Given the description of an element on the screen output the (x, y) to click on. 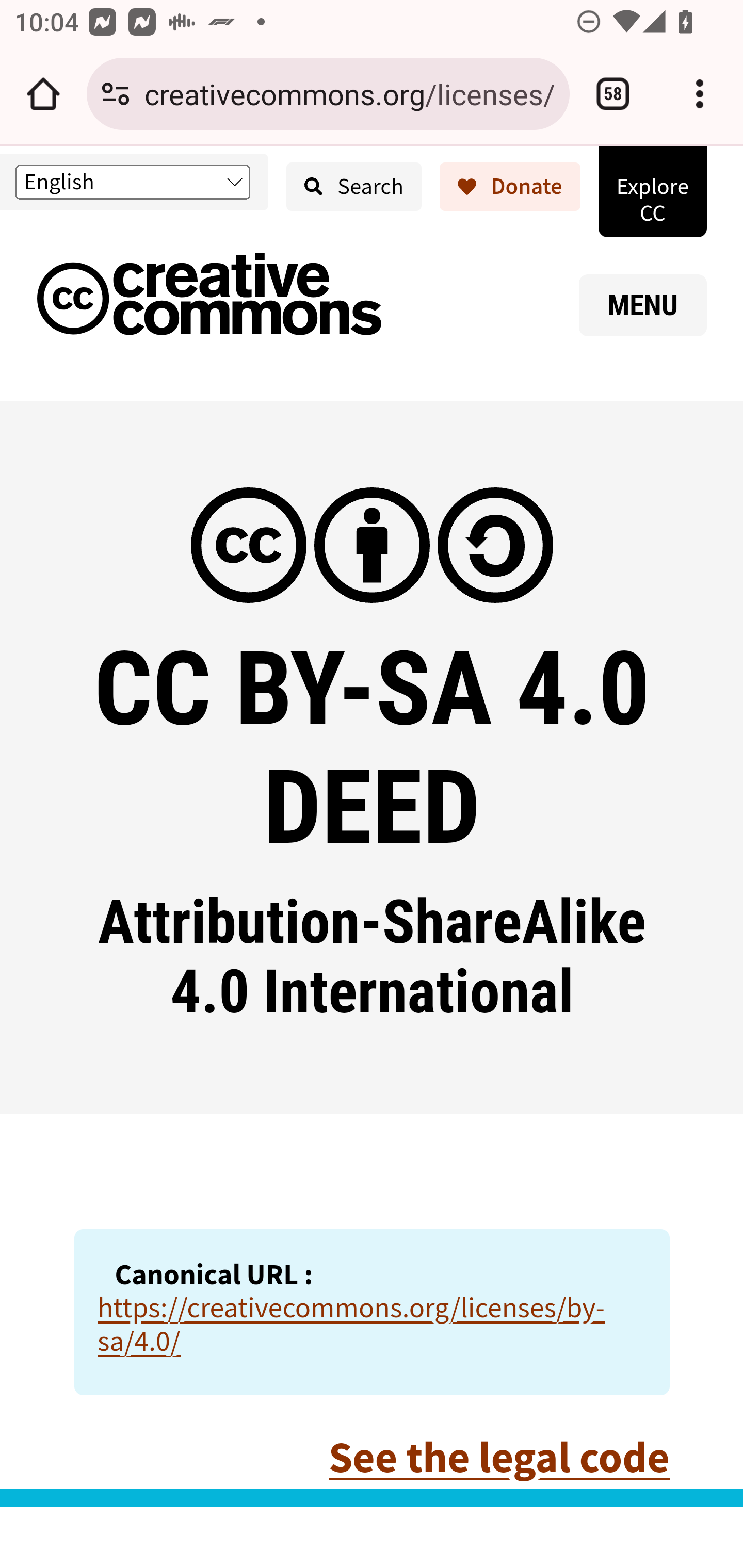
Open the home page (43, 93)
Connection is secure (115, 93)
Switch or close tabs (612, 93)
Customize and control Google Chrome (699, 93)
creativecommons.org/licenses/by-sa/4.0/ (349, 92)
Explore CC (652, 191)
English (132, 181)
Search (353, 187)
Donate (509, 187)
Creative Commons (209, 298)
MENU (643, 305)
https://creativecommons.org/licenses/by-sa/4.0/ (350, 1323)
See the legal code (497, 1456)
